Given the description of an element on the screen output the (x, y) to click on. 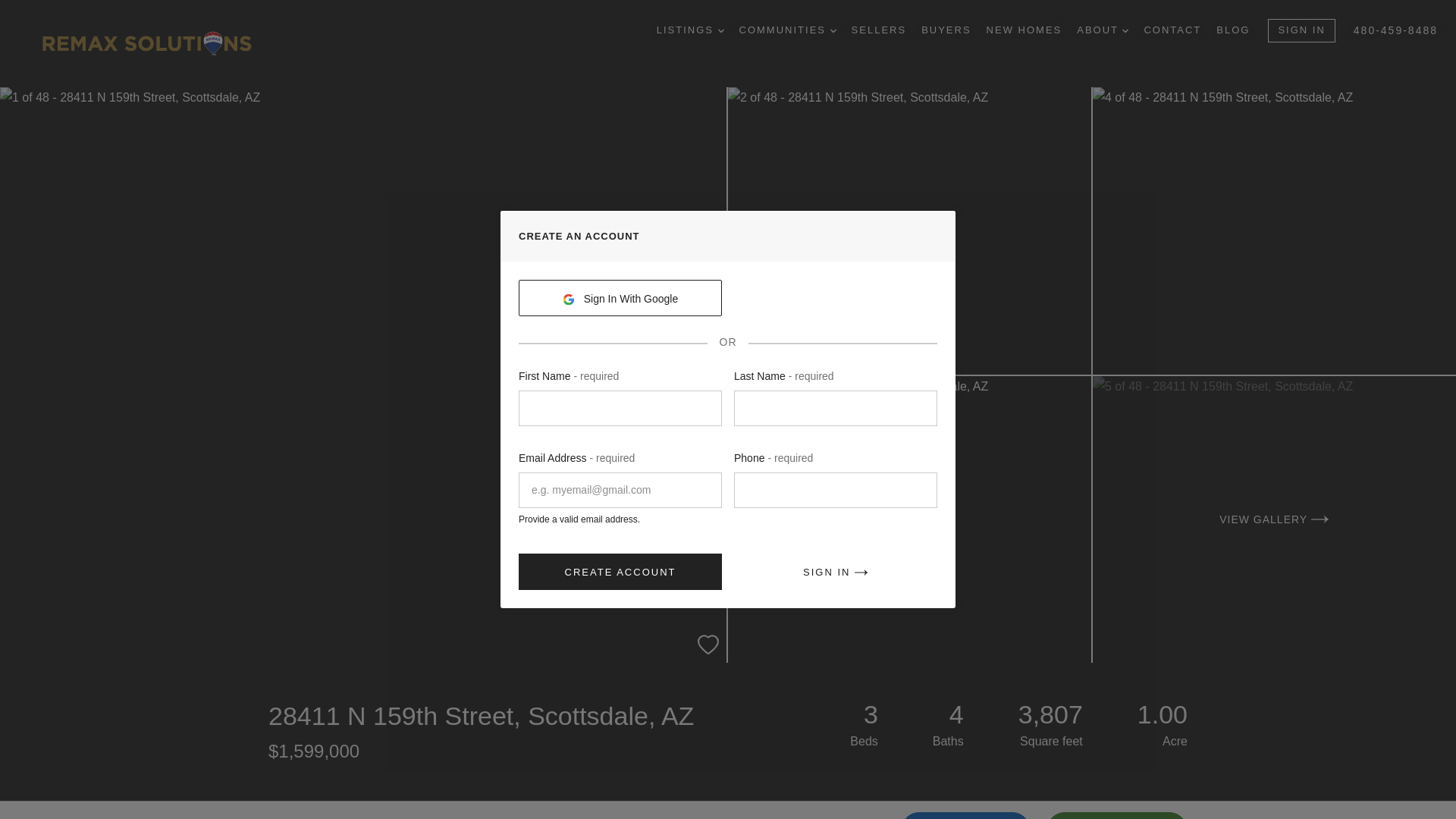
CONTACT (1171, 30)
ABOUT DROPDOWN ARROW (1102, 30)
SELLERS (879, 30)
SIGN IN (1301, 30)
BLOG (1232, 30)
DROPDOWN ARROW (720, 30)
BUYERS (946, 30)
COMMUNITIES DROPDOWN ARROW (787, 30)
NEW HOMES (1024, 30)
DROPDOWN ARROW (832, 30)
